Given the description of an element on the screen output the (x, y) to click on. 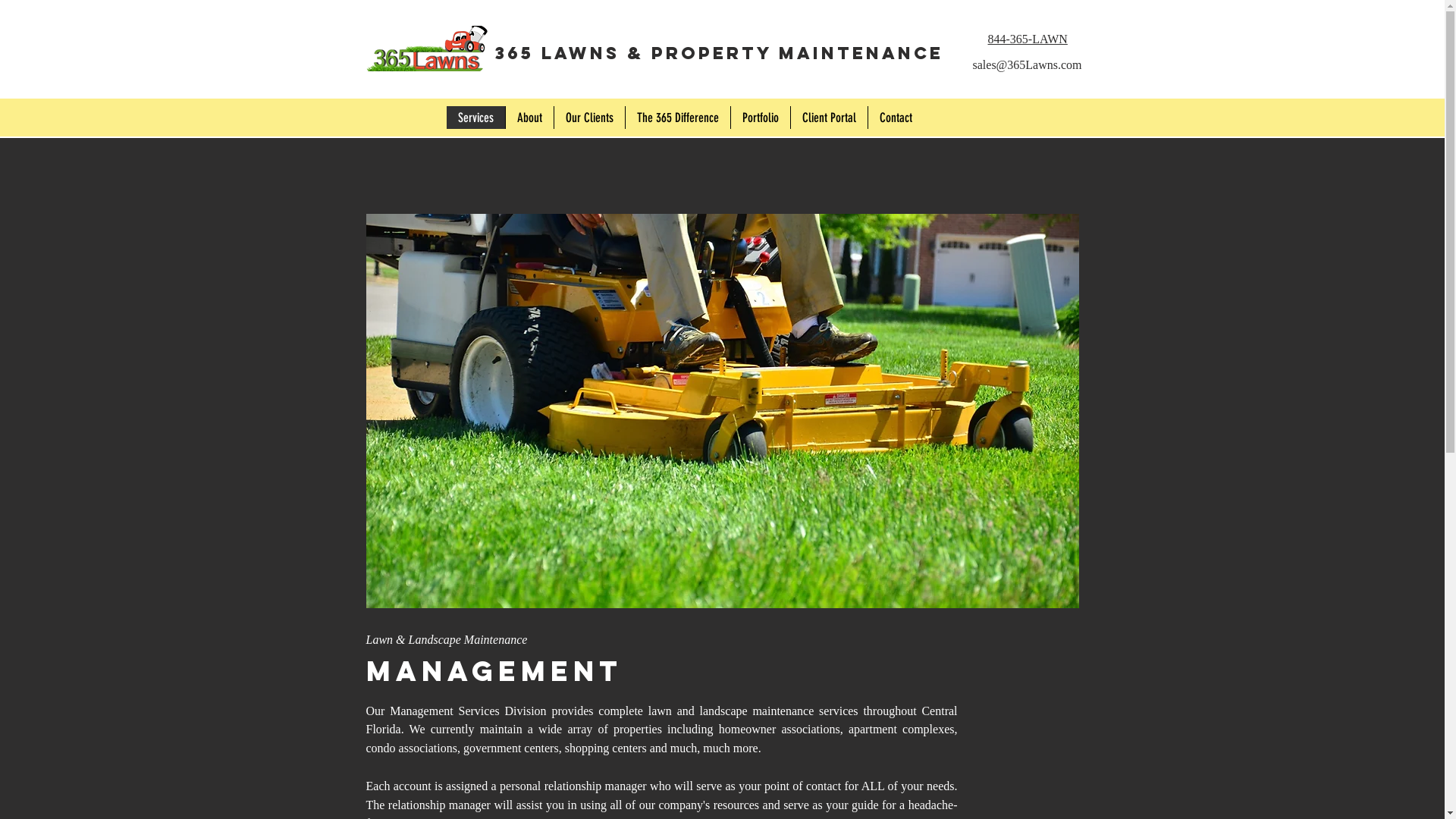
Client Portal Element type: text (828, 117)
Portfolio Element type: text (759, 117)
Contact Element type: text (895, 117)
Services Element type: text (474, 117)
sales@365Lawns.com Element type: text (1026, 64)
About Element type: text (529, 117)
Our Clients Element type: text (588, 117)
The 365 Difference Element type: text (677, 117)
844-365-LAWN Element type: text (1026, 38)
